Given the description of an element on the screen output the (x, y) to click on. 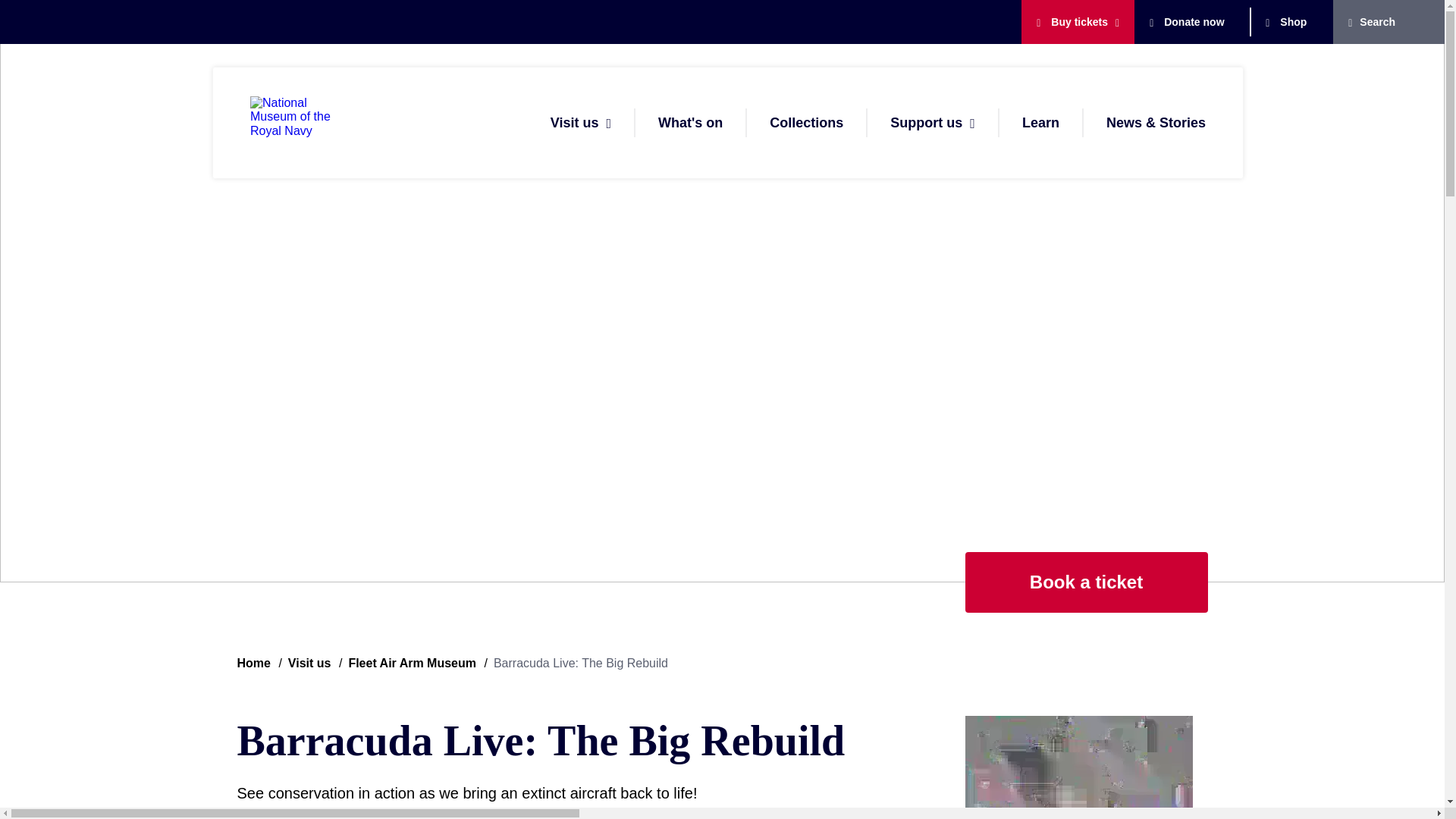
Home (302, 122)
Collections (806, 122)
Visit us (574, 122)
What's on (690, 122)
Buy tickets (1072, 21)
